Given the description of an element on the screen output the (x, y) to click on. 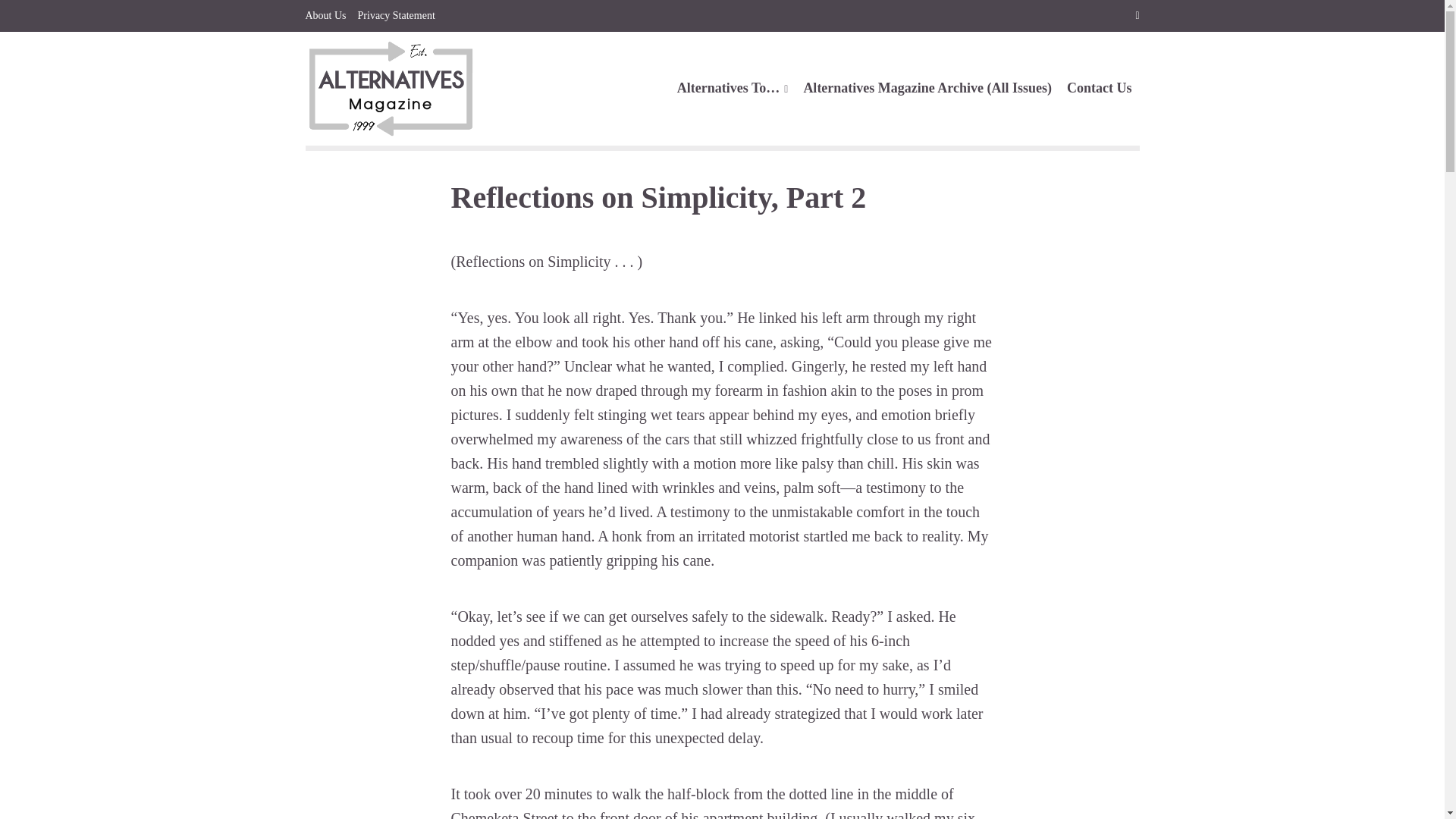
About Us (325, 15)
Privacy Statement (396, 15)
Contact Us (1099, 87)
